Given the description of an element on the screen output the (x, y) to click on. 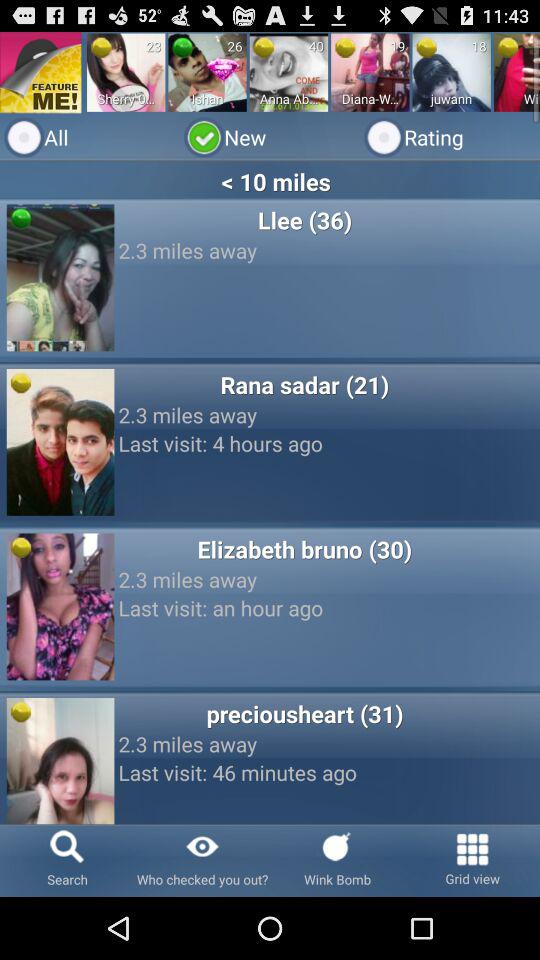
press icon next to the 19 item (345, 47)
